Given the description of an element on the screen output the (x, y) to click on. 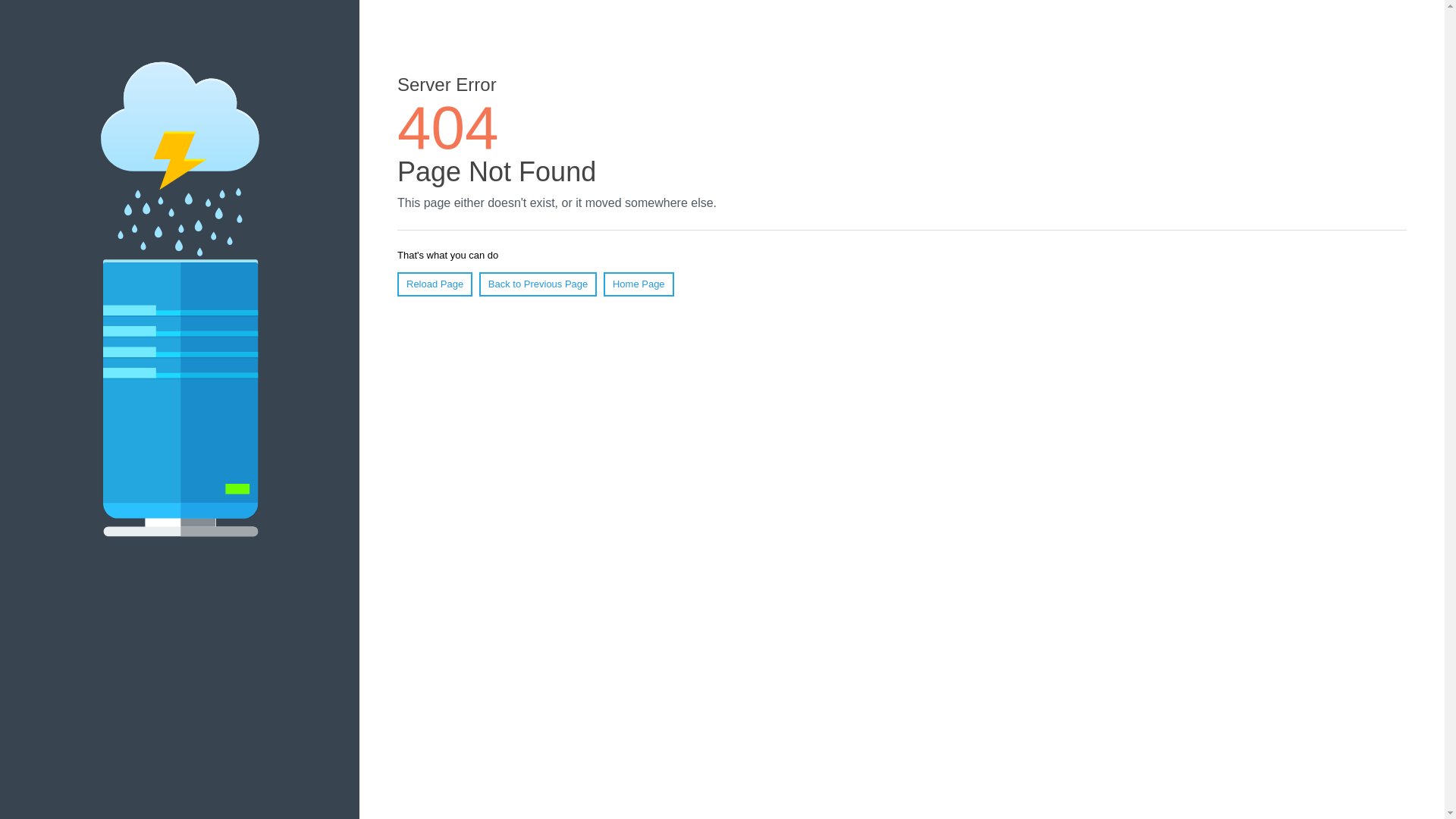
Home Page Element type: text (638, 284)
Reload Page Element type: text (434, 284)
Back to Previous Page Element type: text (538, 284)
